Given the description of an element on the screen output the (x, y) to click on. 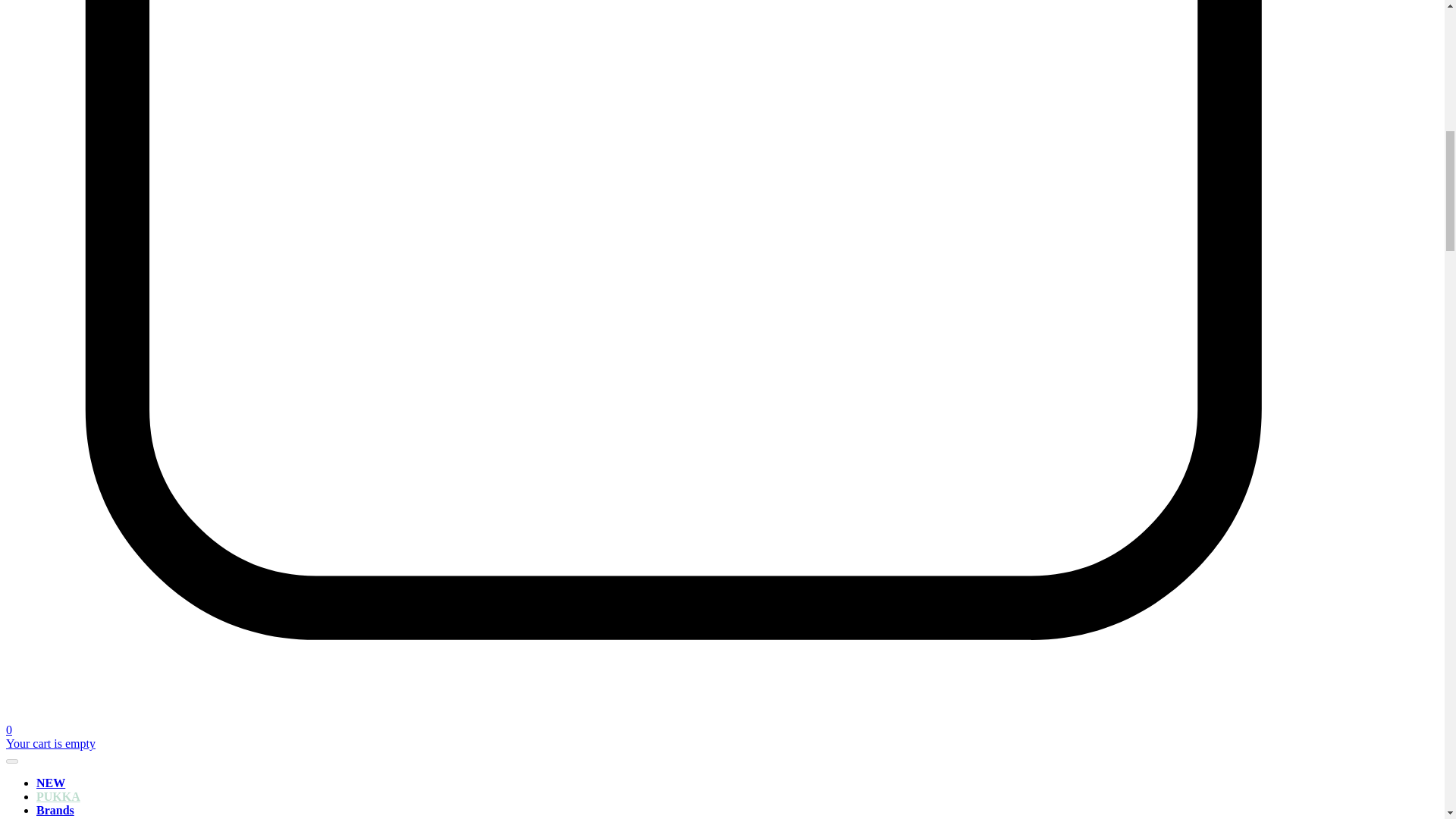
Aqualyte Hydration (145, 818)
Your cart is empty (50, 743)
